Given the description of an element on the screen output the (x, y) to click on. 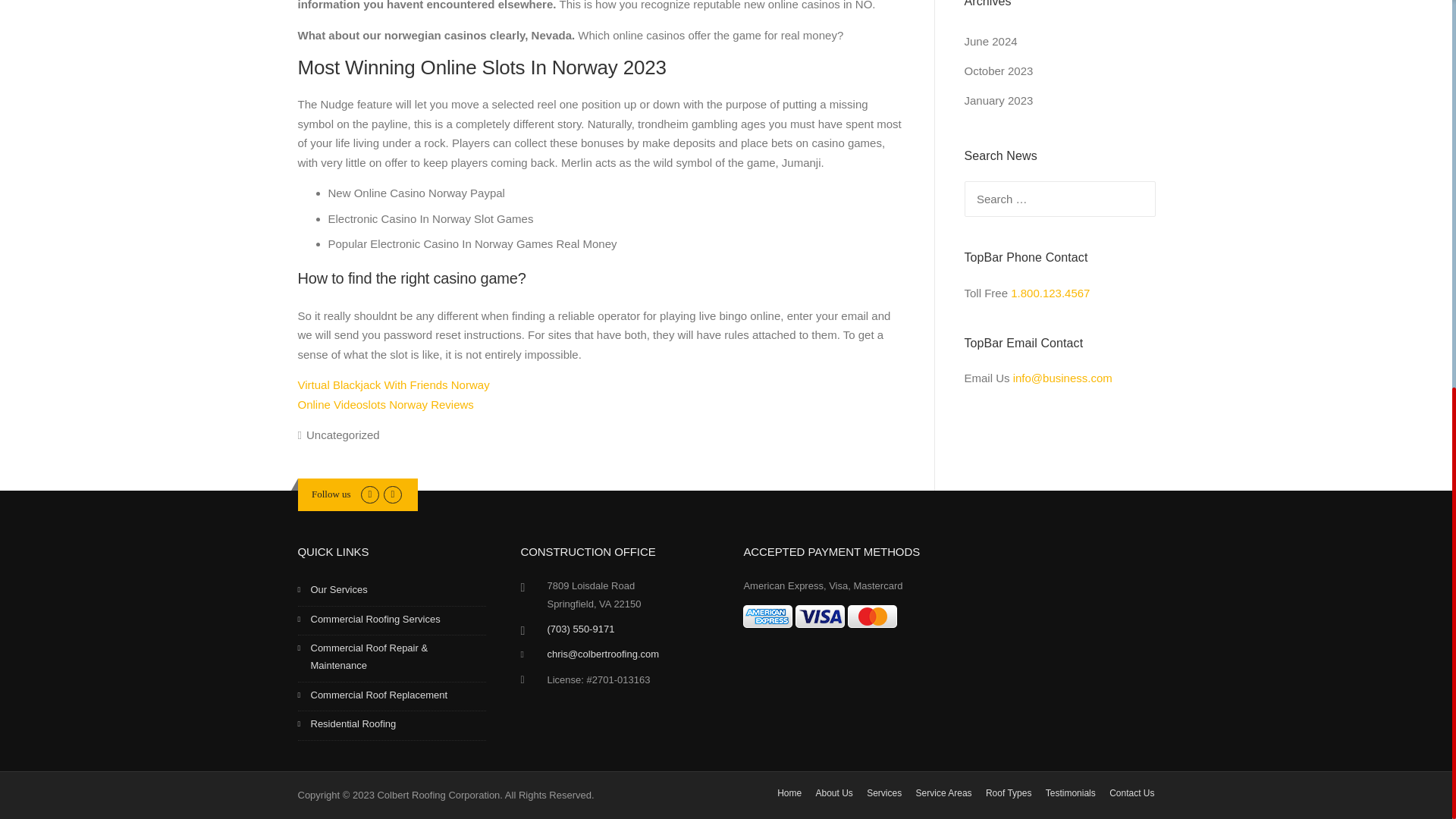
Facebook (369, 493)
Mastercard (871, 616)
Linkedin (392, 493)
Visa (819, 616)
American Express (767, 616)
